Given the description of an element on the screen output the (x, y) to click on. 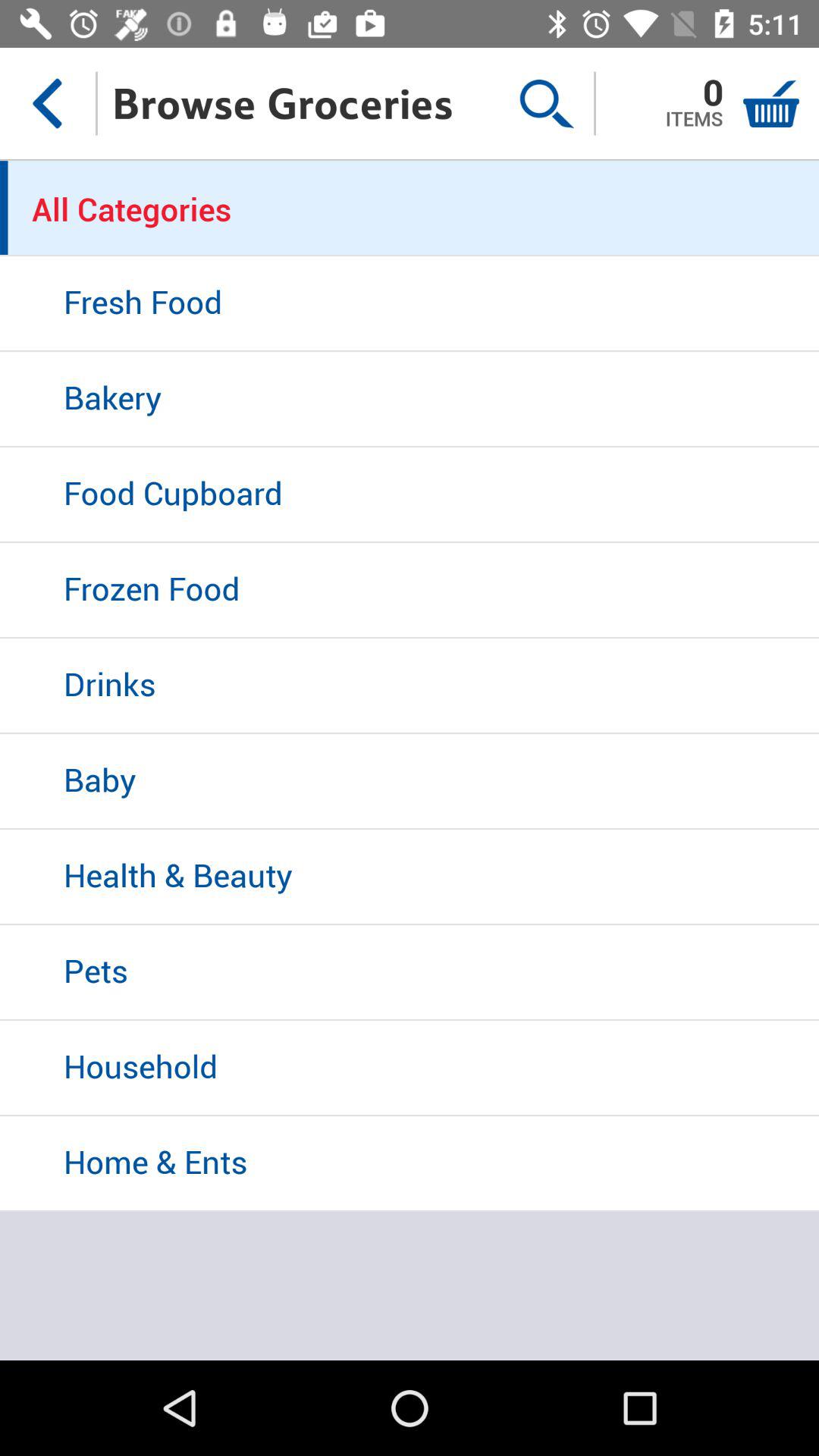
press home & ents icon (409, 1164)
